Given the description of an element on the screen output the (x, y) to click on. 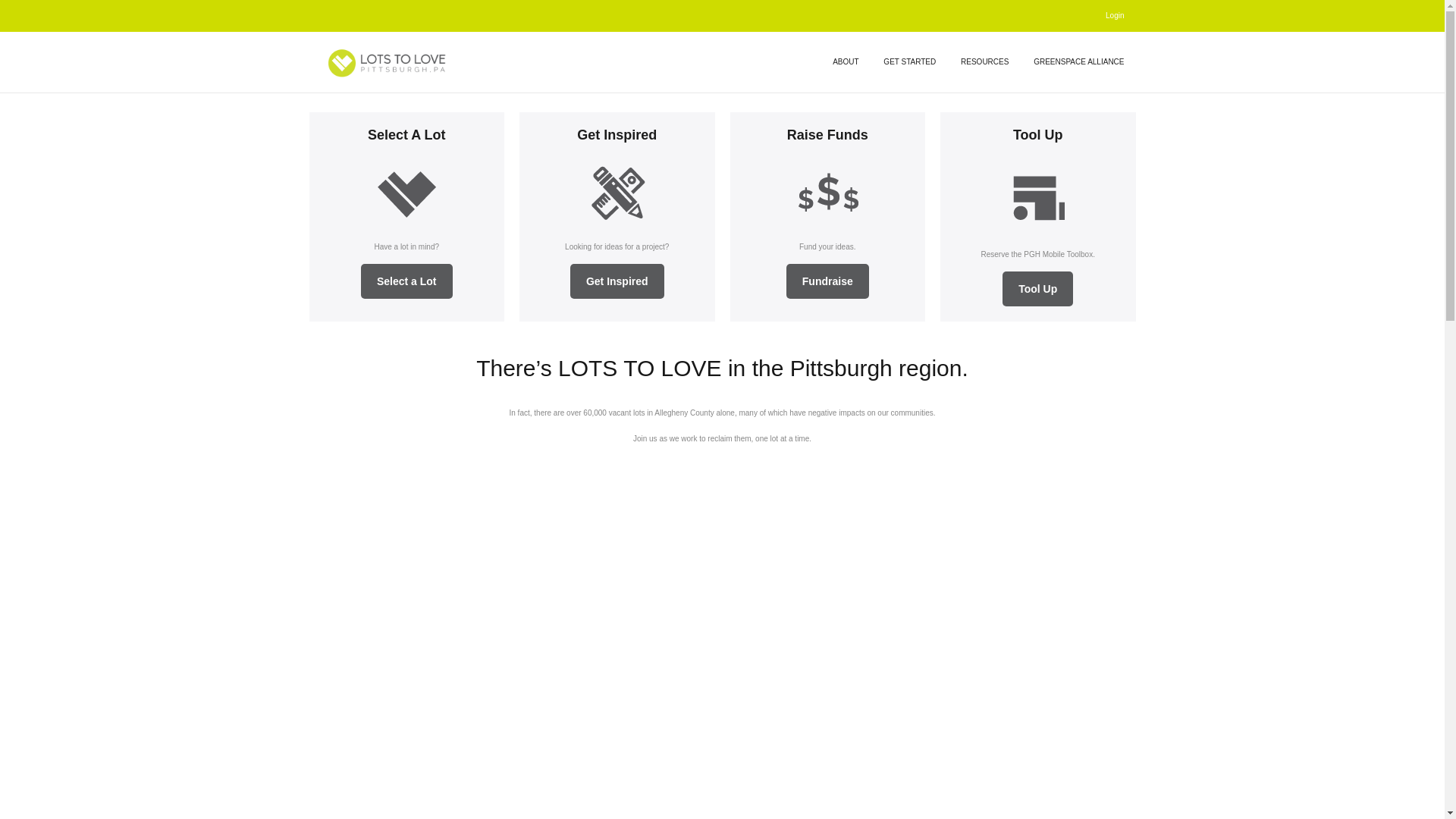
Raise Funds (827, 134)
Select a Lot (616, 280)
Select a Lot (406, 280)
Select a Lot (406, 280)
Tool Up (1037, 134)
Login (1114, 15)
Get Inspired (616, 280)
Get Inspired (616, 134)
Select a Lot (827, 280)
Select A Lot (406, 134)
